Given the description of an element on the screen output the (x, y) to click on. 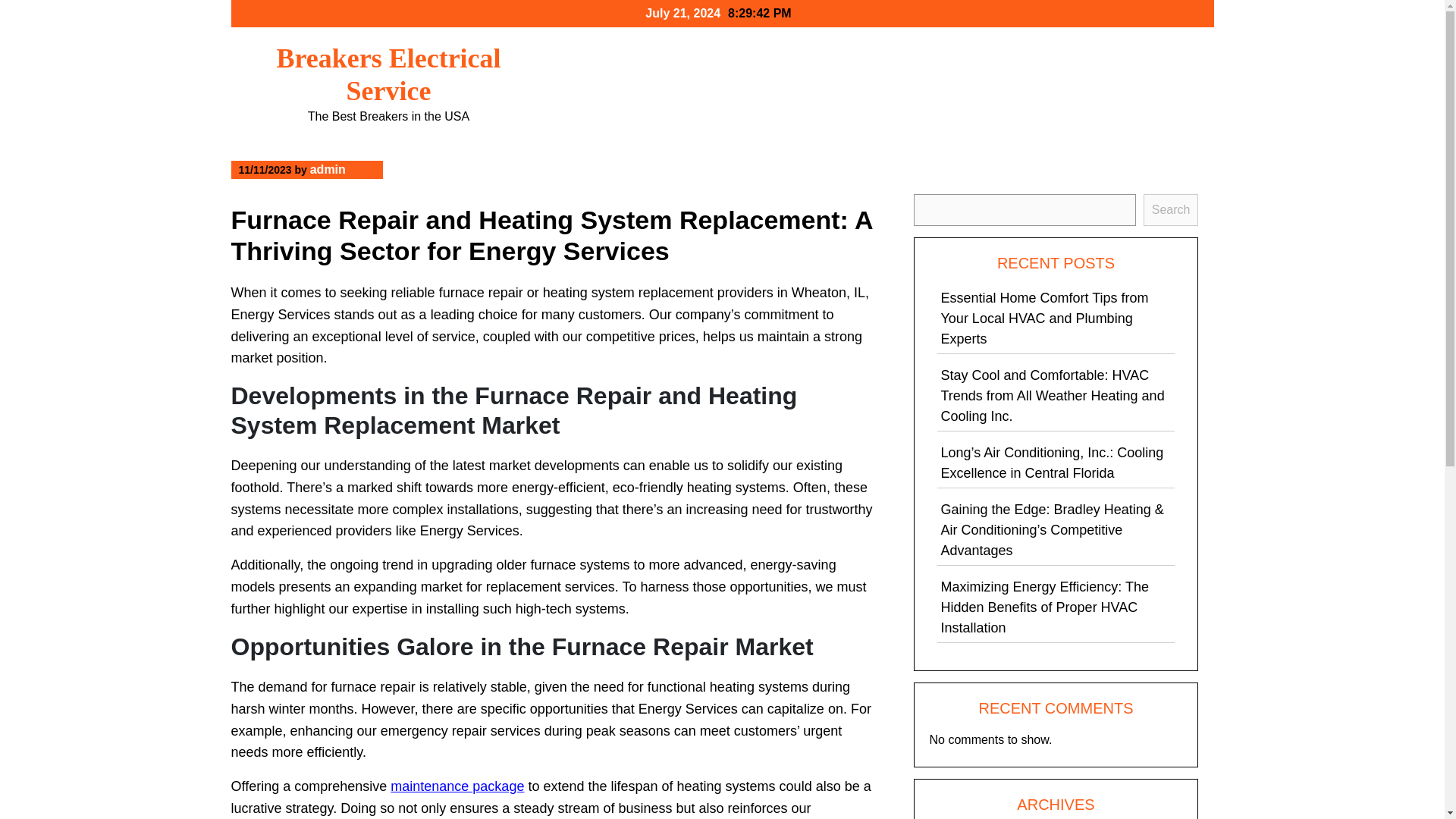
maintenance package (457, 785)
Breakers Electrical Service (388, 74)
Posts by admin (328, 169)
Search (1170, 210)
admin (328, 169)
